Given the description of an element on the screen output the (x, y) to click on. 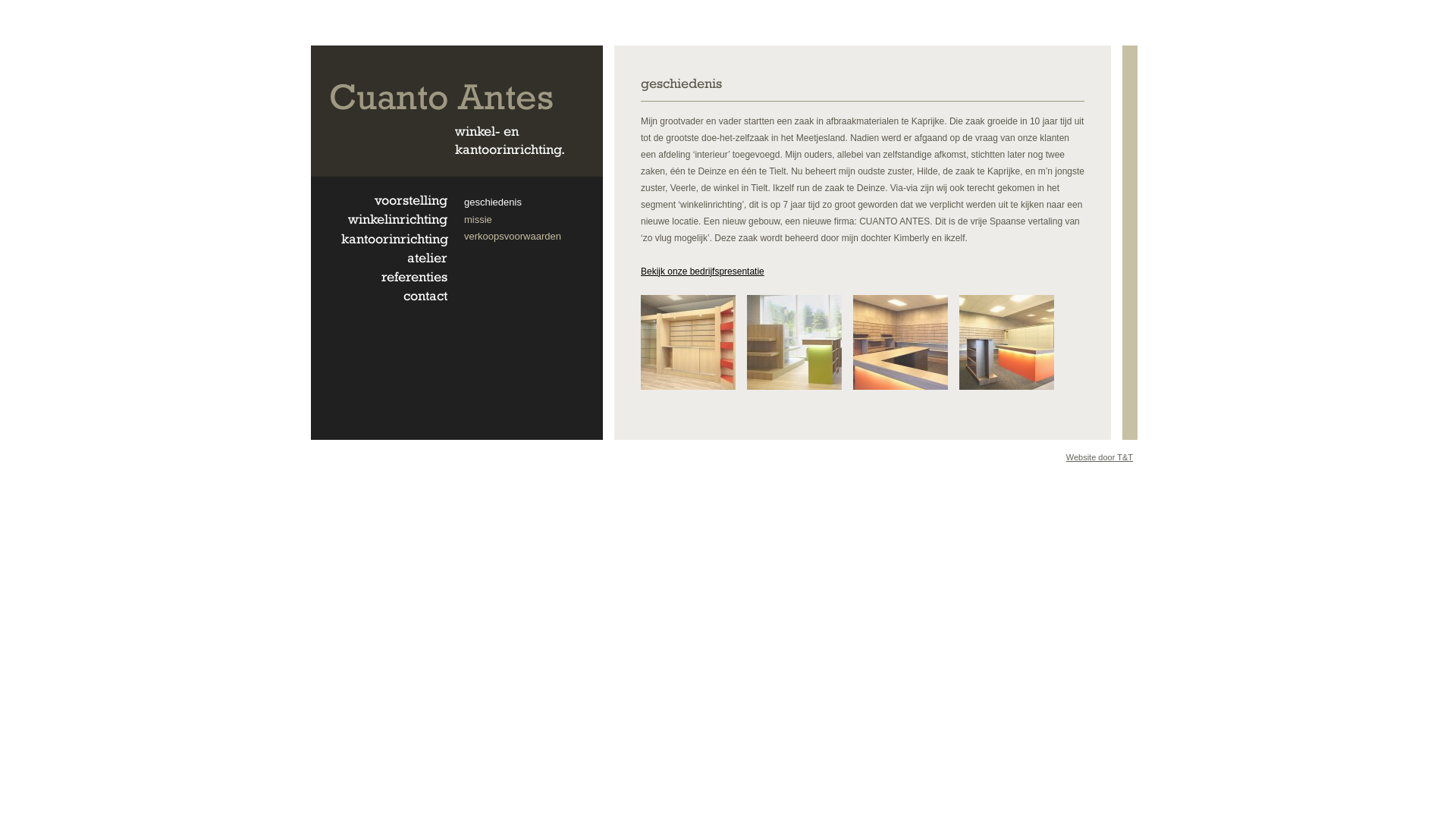
referenties Element type: text (414, 276)
winkelinrichting Element type: text (397, 218)
verkoopsvoorwaarden Element type: text (512, 235)
geschiedenis Element type: text (492, 201)
atelier Element type: text (427, 257)
missie Element type: text (478, 219)
voorstelling Element type: text (410, 199)
Cuanto Antes Element type: text (441, 96)
kantoorinrichting Element type: text (394, 238)
Bekijk onze bedrijfspresentatie Element type: text (702, 271)
contact Element type: text (425, 295)
Website door T&T Element type: text (1099, 456)
